Given the description of an element on the screen output the (x, y) to click on. 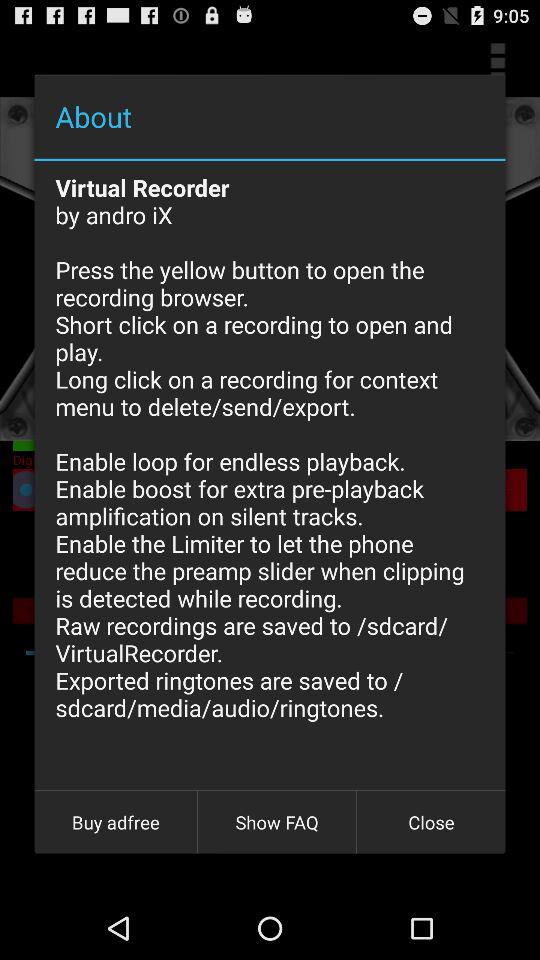
launch icon to the right of the buy adfree icon (277, 821)
